Given the description of an element on the screen output the (x, y) to click on. 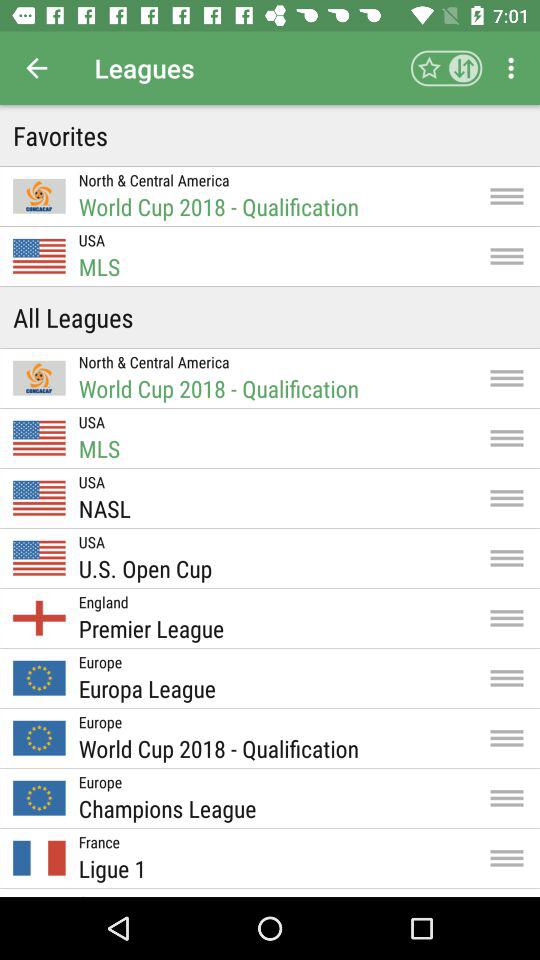
click the item next to the leagues icon (36, 68)
